Given the description of an element on the screen output the (x, y) to click on. 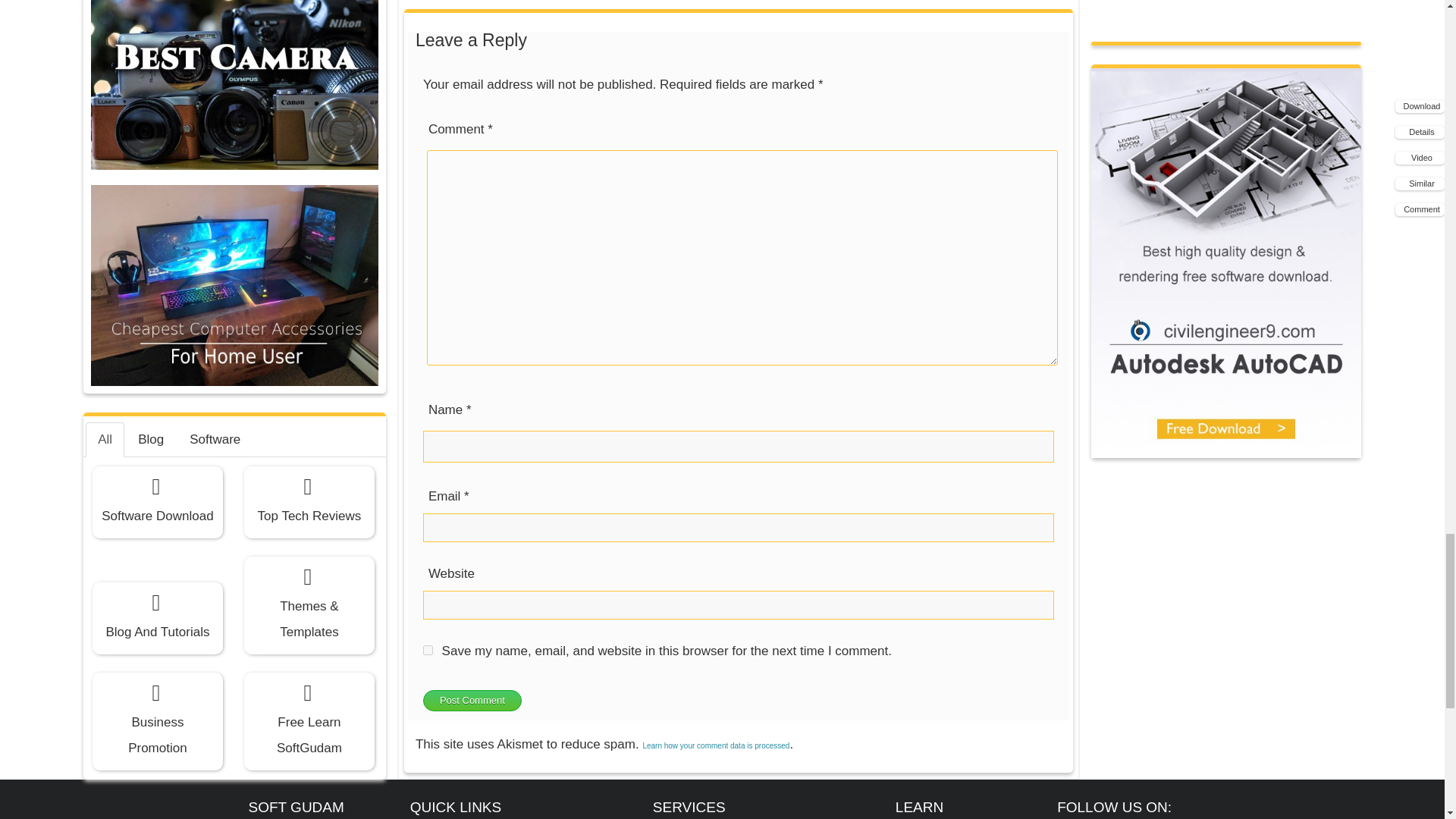
yes (427, 650)
Post Comment (472, 700)
